Given the description of an element on the screen output the (x, y) to click on. 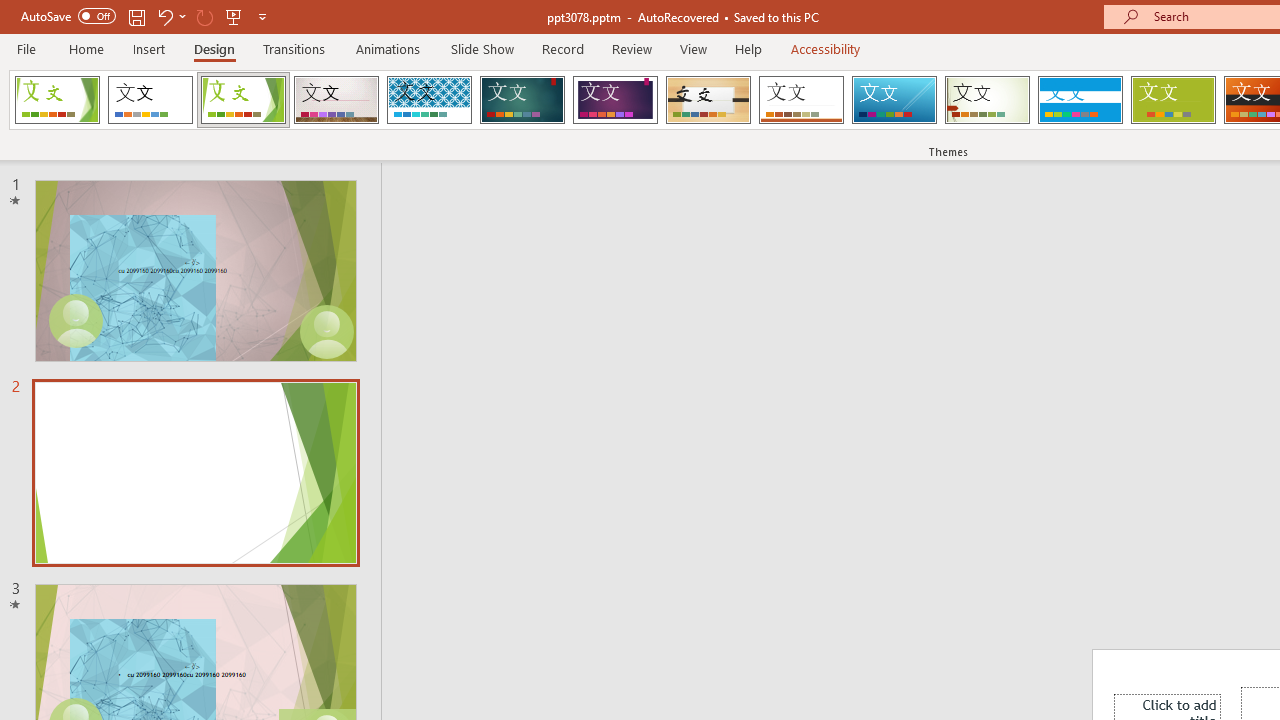
Dividend (57, 100)
Office Theme (150, 100)
Gallery (336, 100)
Retrospect (801, 100)
Banded (1080, 100)
Integral (429, 100)
Basis (1172, 100)
